Given the description of an element on the screen output the (x, y) to click on. 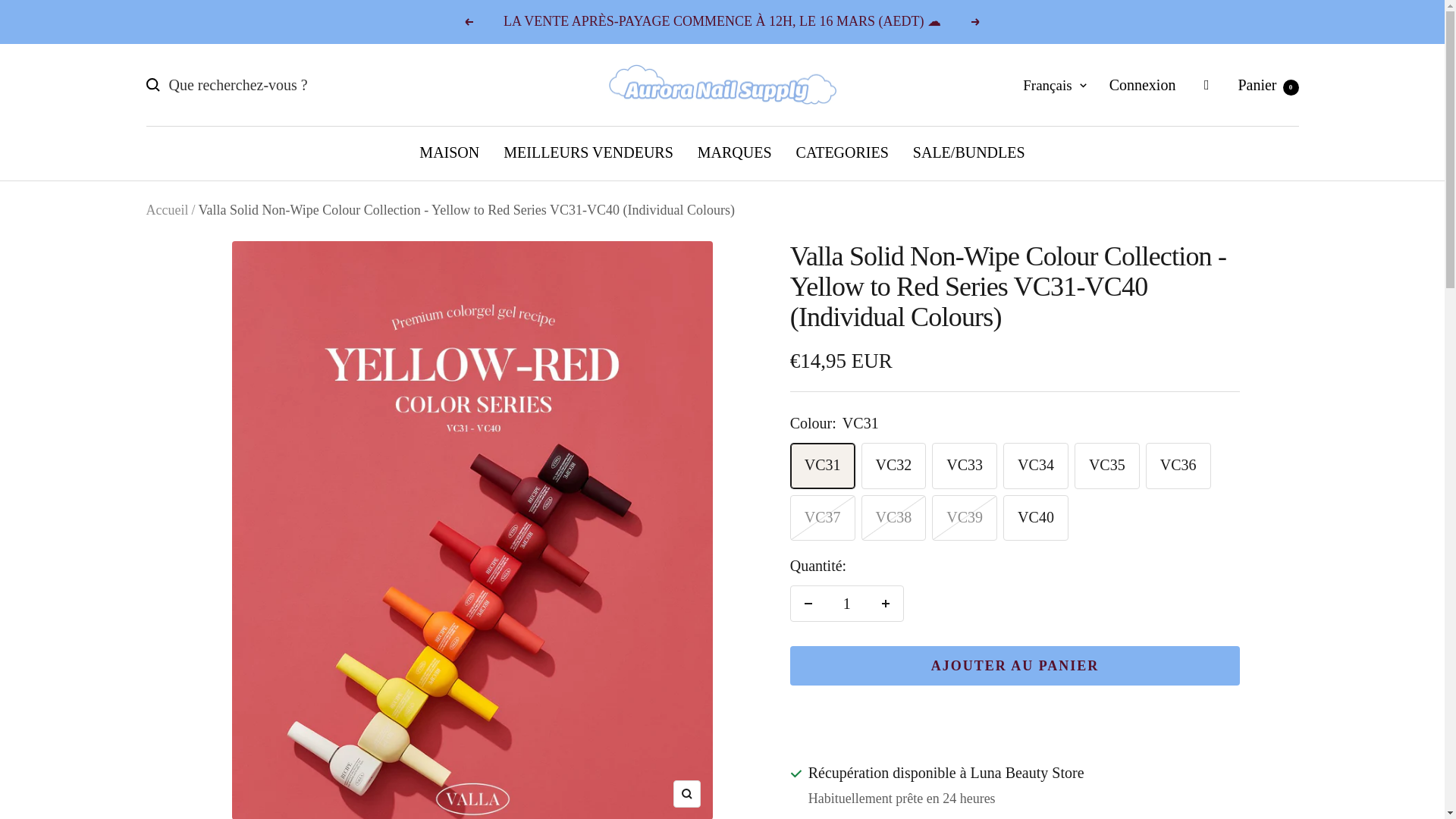
MAISON (449, 152)
Connexion (1142, 84)
fr (1267, 84)
